Given the description of an element on the screen output the (x, y) to click on. 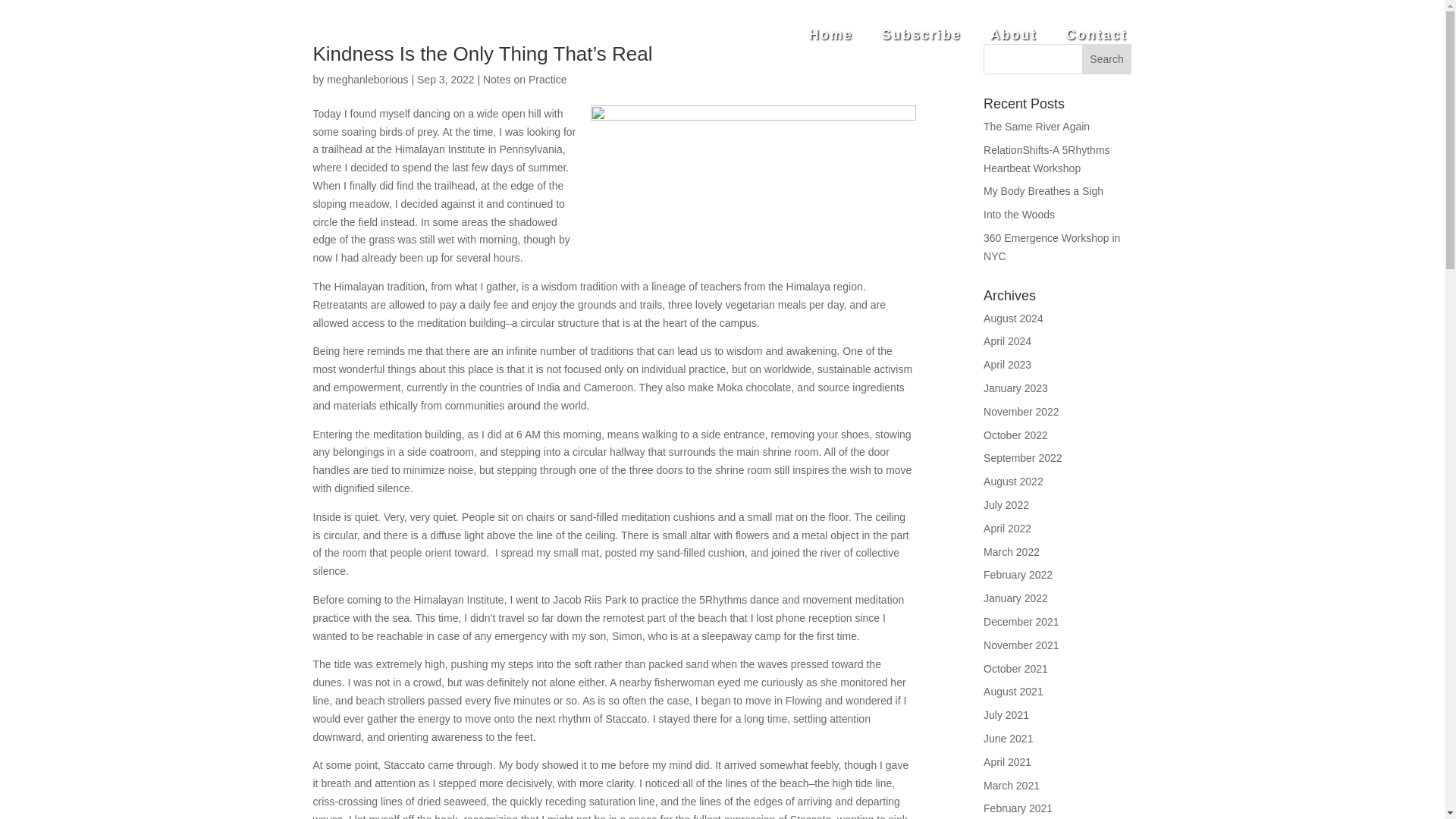
October 2022 (1016, 435)
meghanleborious (366, 79)
360 Emergence Workshop in NYC (1051, 246)
Search (1106, 59)
April 2024 (1007, 340)
August 2022 (1013, 481)
The Same River Again (1036, 126)
July 2021 (1006, 715)
December 2021 (1021, 621)
June 2021 (1008, 738)
